Given the description of an element on the screen output the (x, y) to click on. 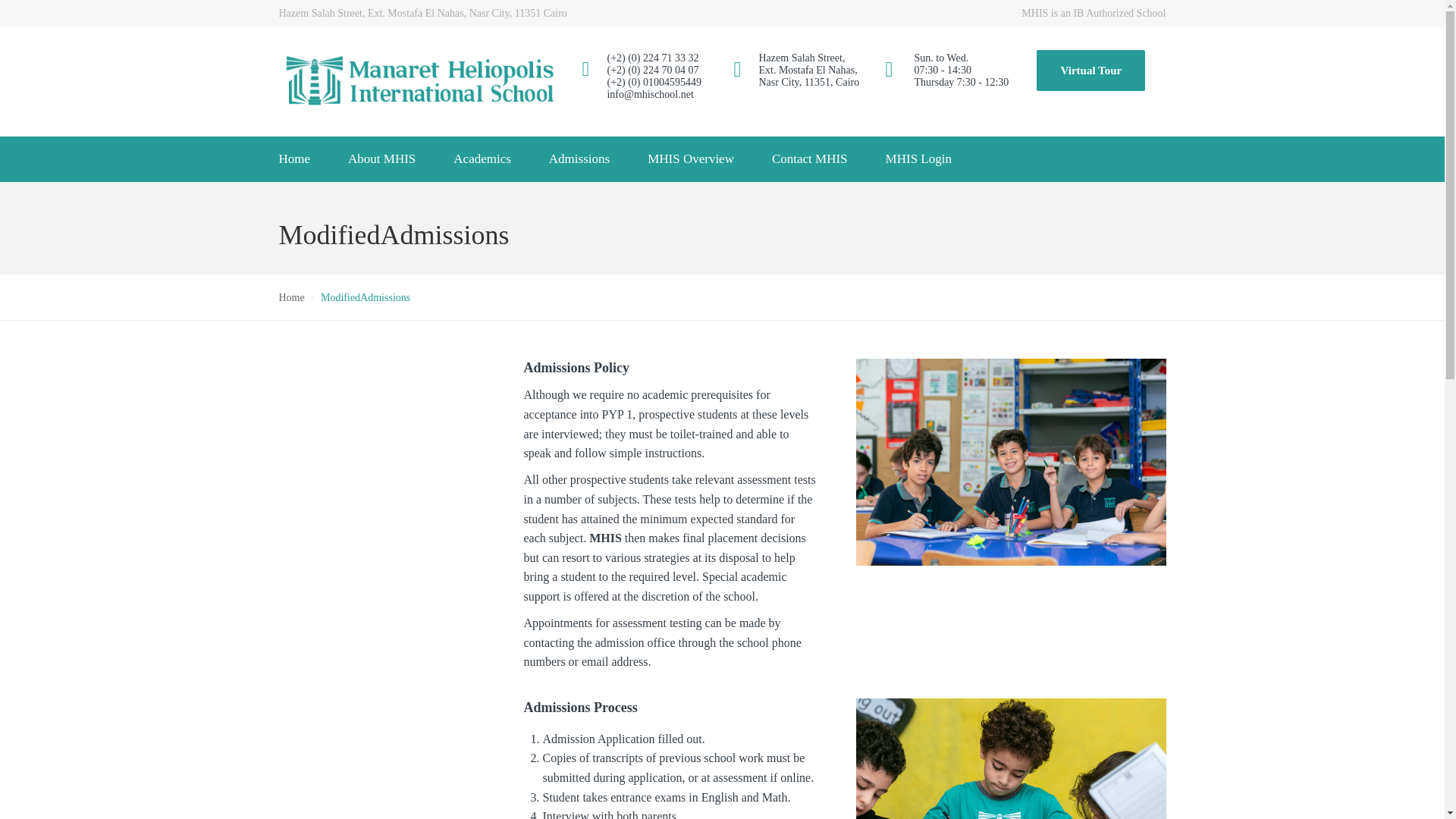
About MHIS (381, 159)
Virtual Tour (1090, 69)
Admissions (578, 159)
Contact MHIS (809, 159)
Academics (481, 159)
MHIS Overview (690, 159)
Virtual Tour (1090, 69)
Home (294, 159)
